Given the description of an element on the screen output the (x, y) to click on. 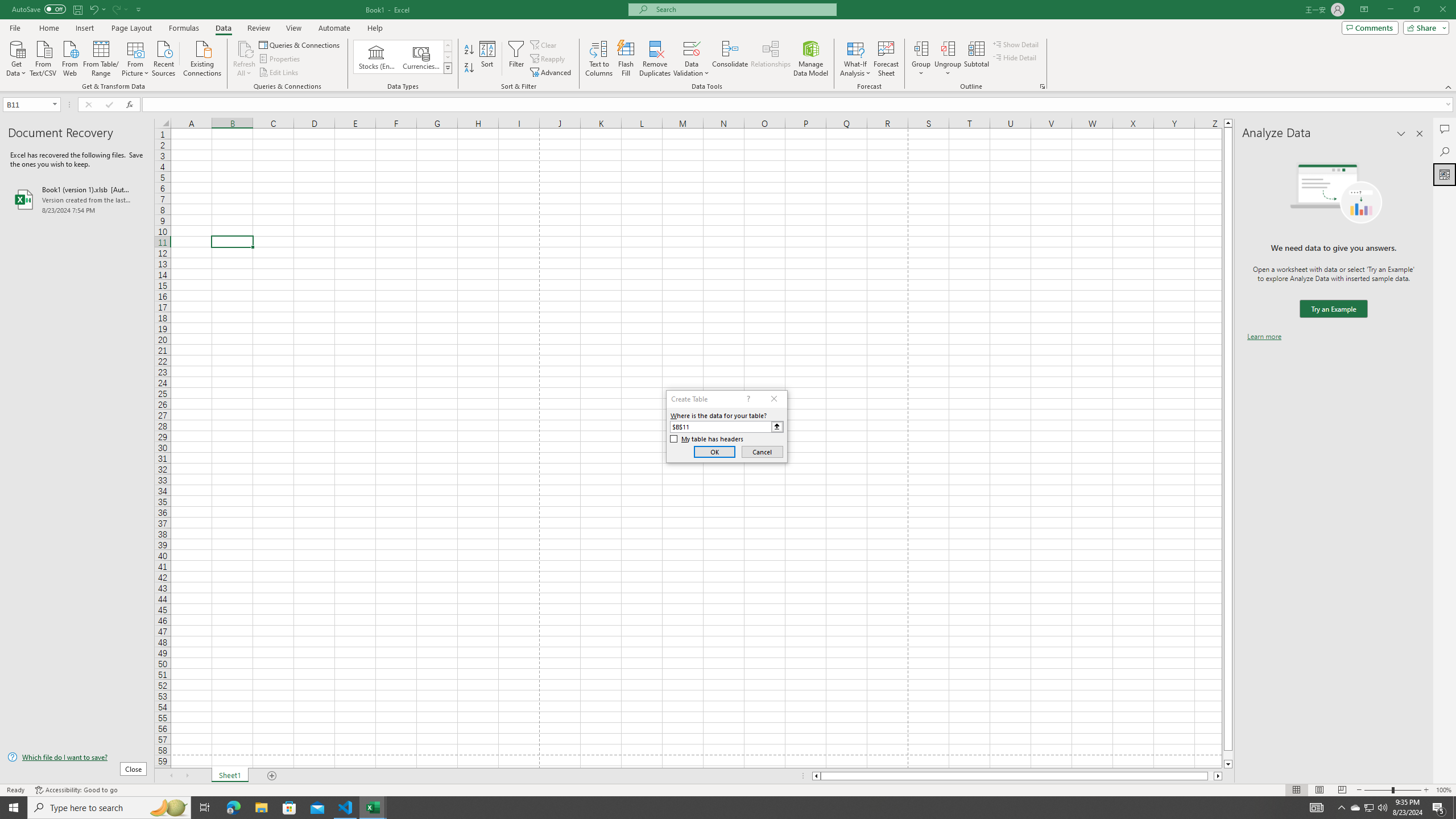
Show Detail (1016, 44)
Manage Data Model (810, 58)
Group and Outline Settings (1042, 85)
From Picture (135, 57)
Hide Detail (1014, 56)
We need data to give you answers. Try an Example (1333, 308)
